Given the description of an element on the screen output the (x, y) to click on. 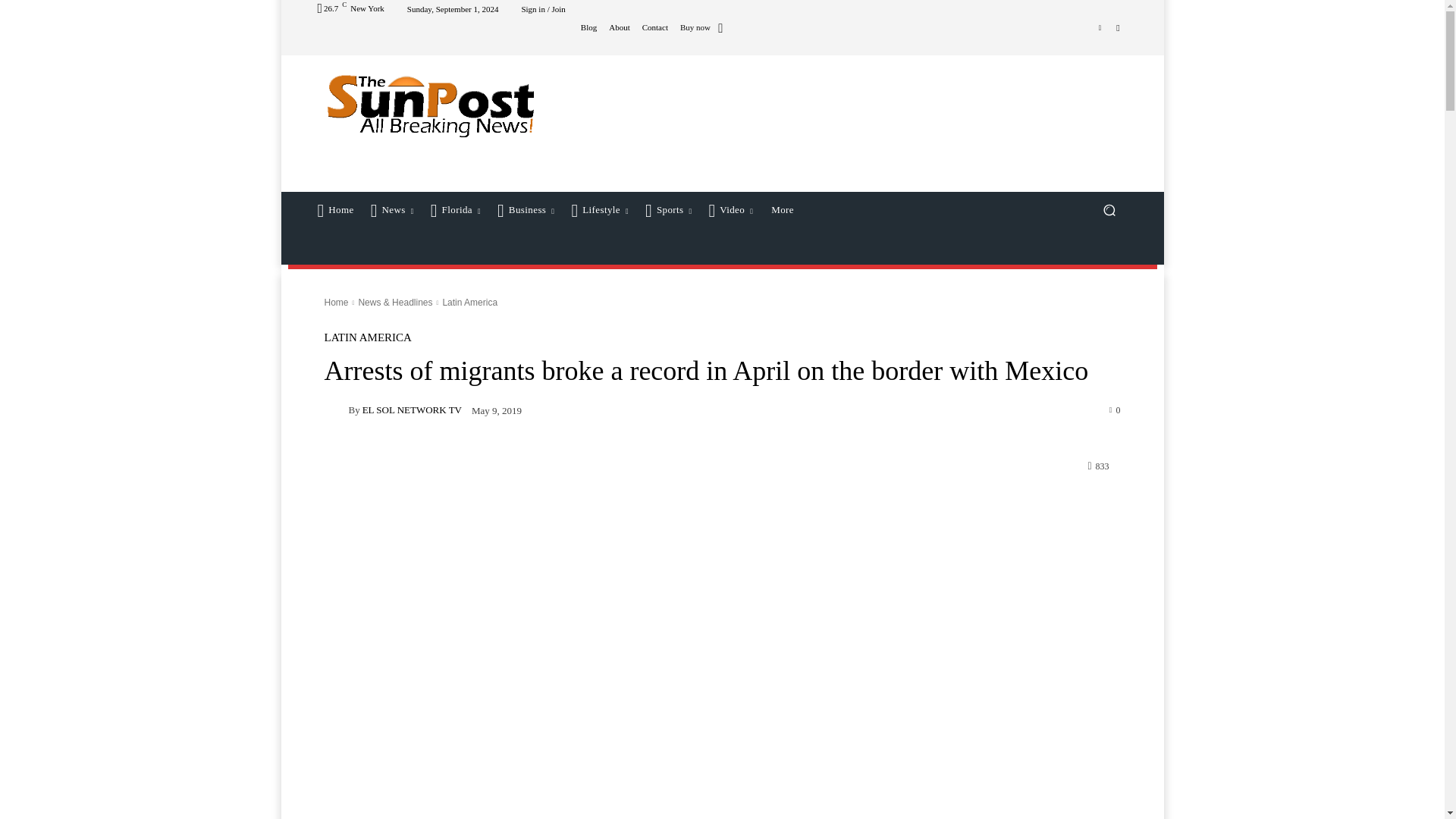
Youtube (1117, 27)
Vimeo (1099, 27)
About (619, 27)
Blog (588, 27)
Contact (655, 27)
